Given the description of an element on the screen output the (x, y) to click on. 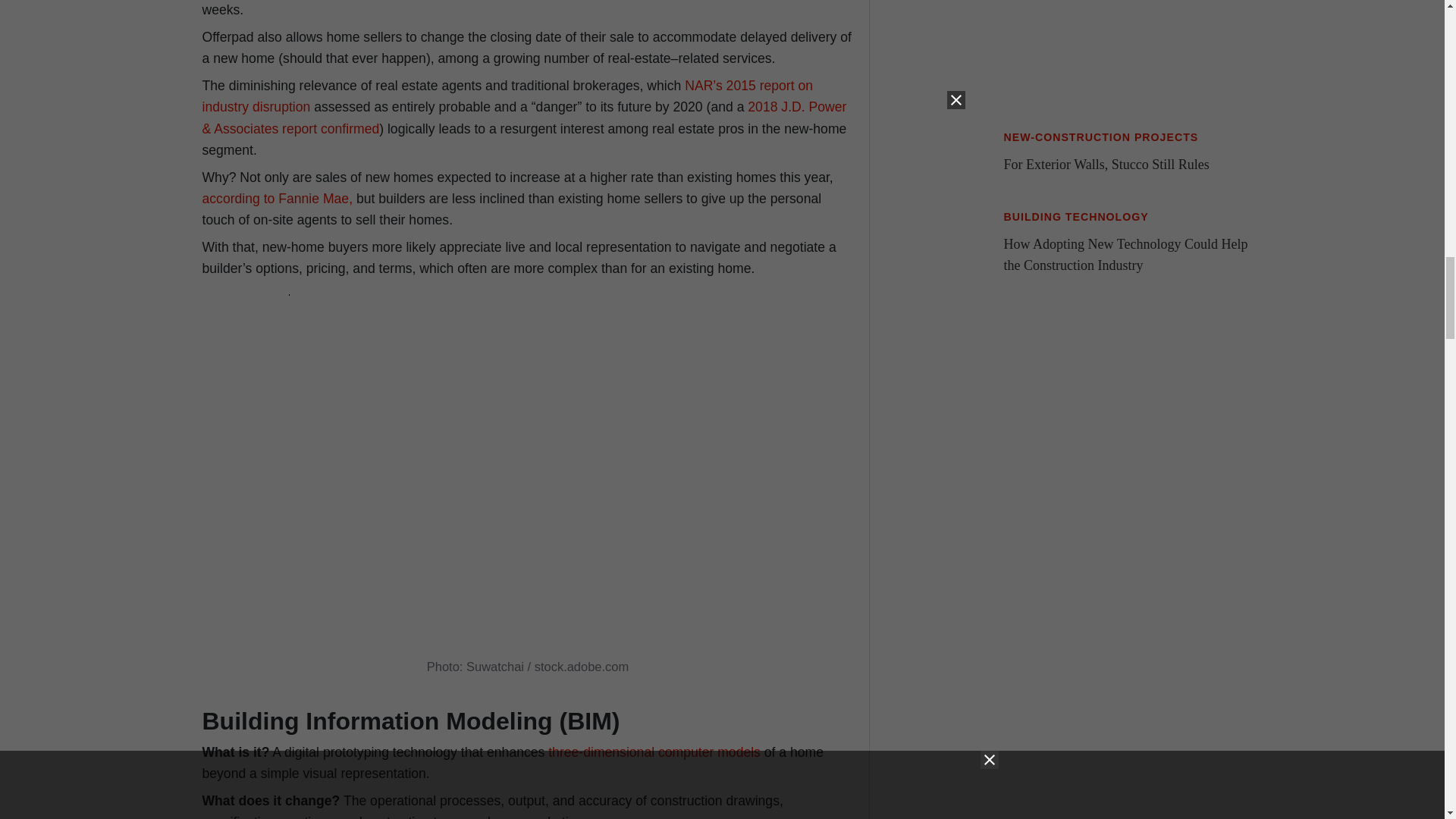
3rd party ad content (1130, 58)
3rd party ad content (1130, 811)
